Given the description of an element on the screen output the (x, y) to click on. 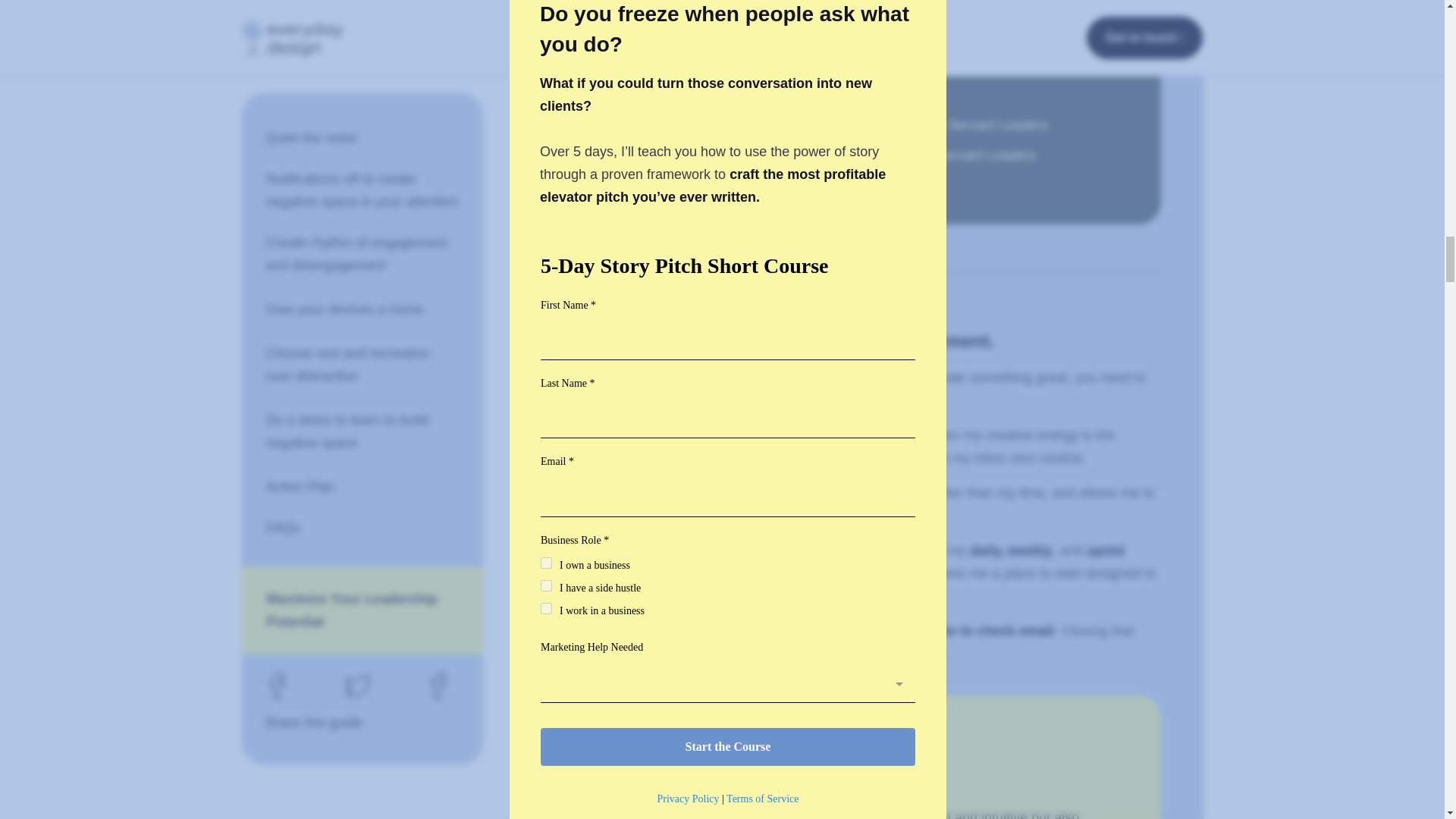
How I use CliftonStrenghts as a leader (723, 17)
Embracing Your Future Leadership Failures (992, 40)
